Given the description of an element on the screen output the (x, y) to click on. 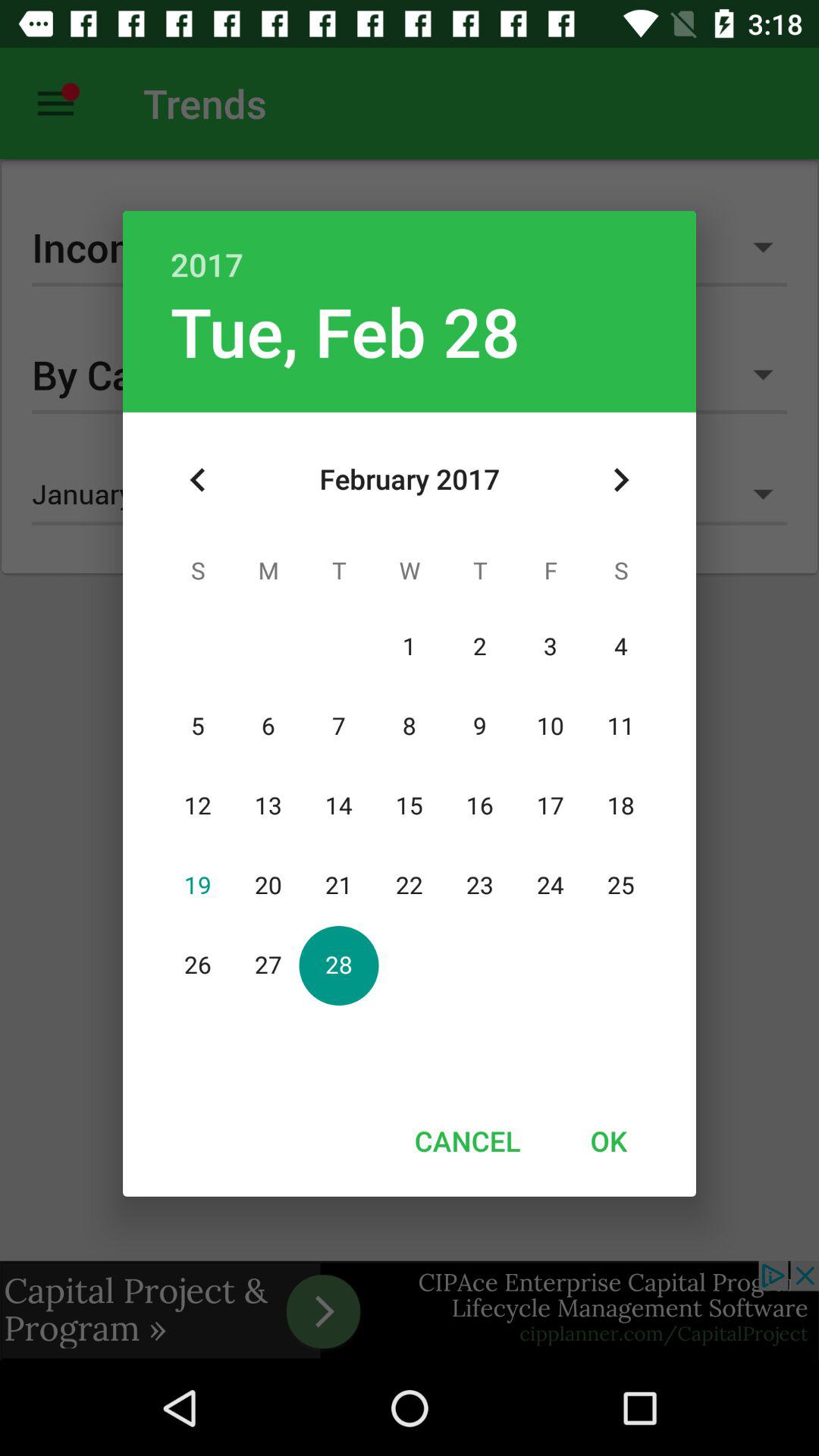
turn on ok icon (608, 1140)
